Given the description of an element on the screen output the (x, y) to click on. 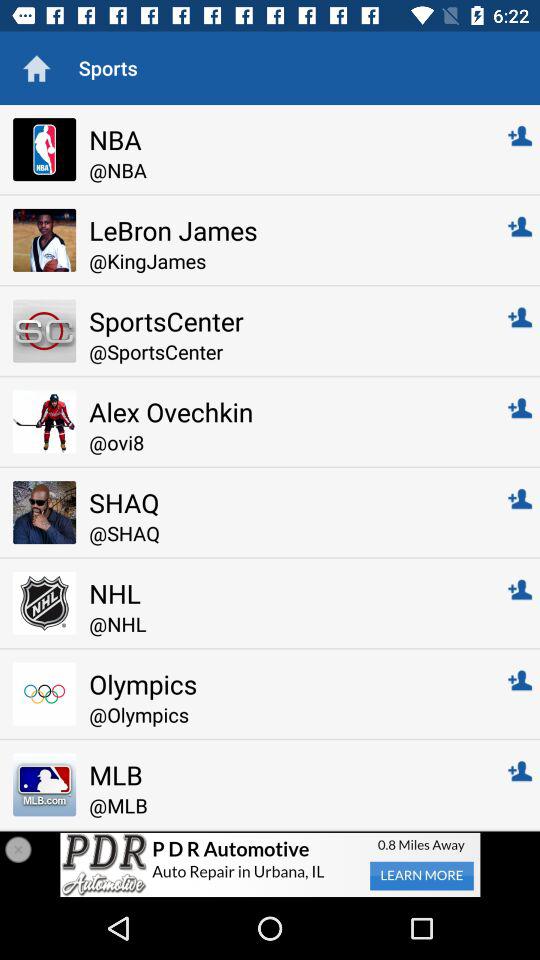
launch the item below the @mlb (270, 863)
